Given the description of an element on the screen output the (x, y) to click on. 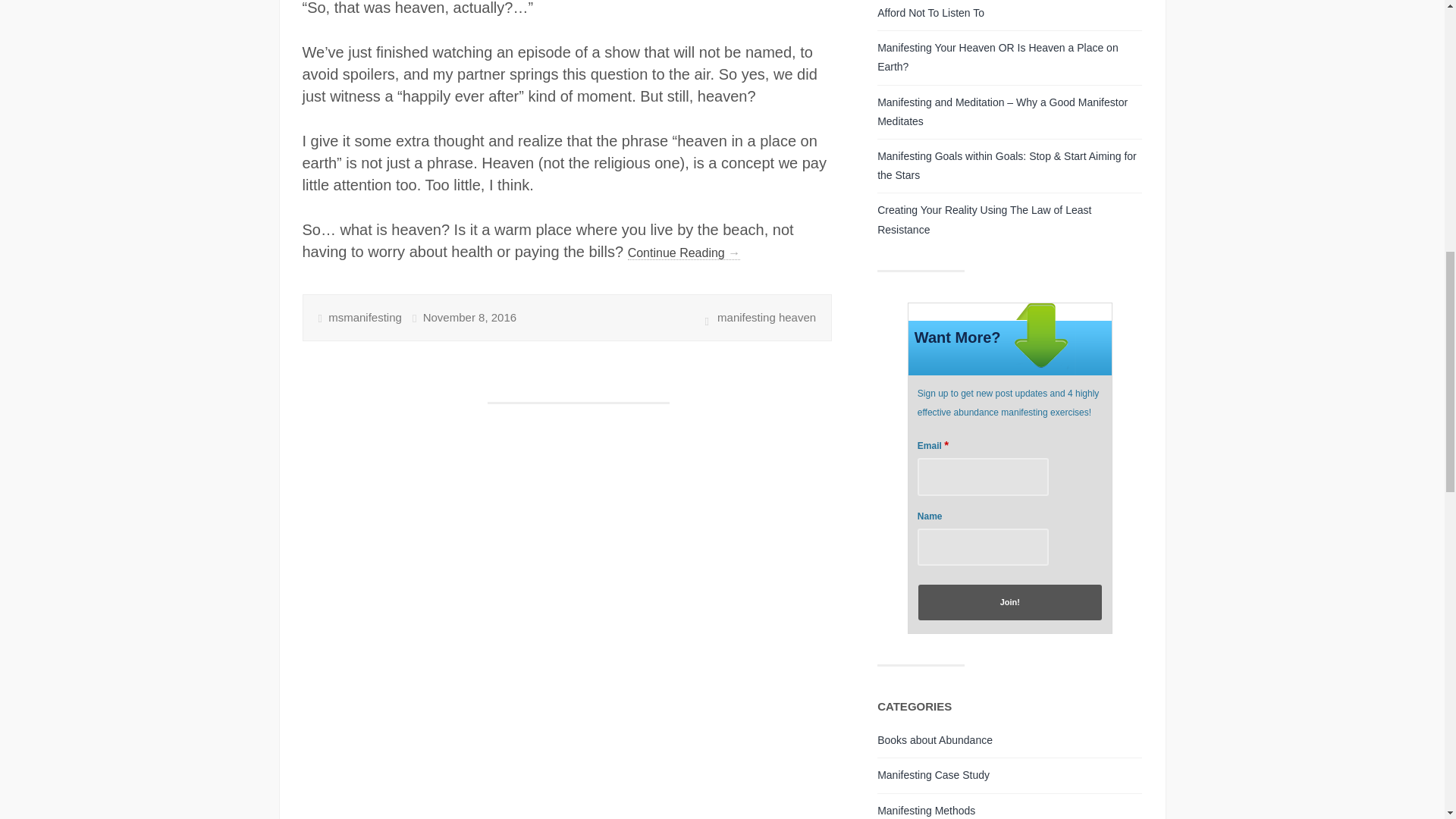
Manifesting Case Study (933, 775)
manifesting heaven (766, 317)
Join! (1010, 601)
Manifesting Methods (926, 810)
Manifesting Your Heaven OR Is Heaven a Place on Earth? (997, 56)
Books about Abundance (934, 739)
Join! (1010, 601)
Creating Your Reality Using The Law of Least Resistance (983, 219)
